Given the description of an element on the screen output the (x, y) to click on. 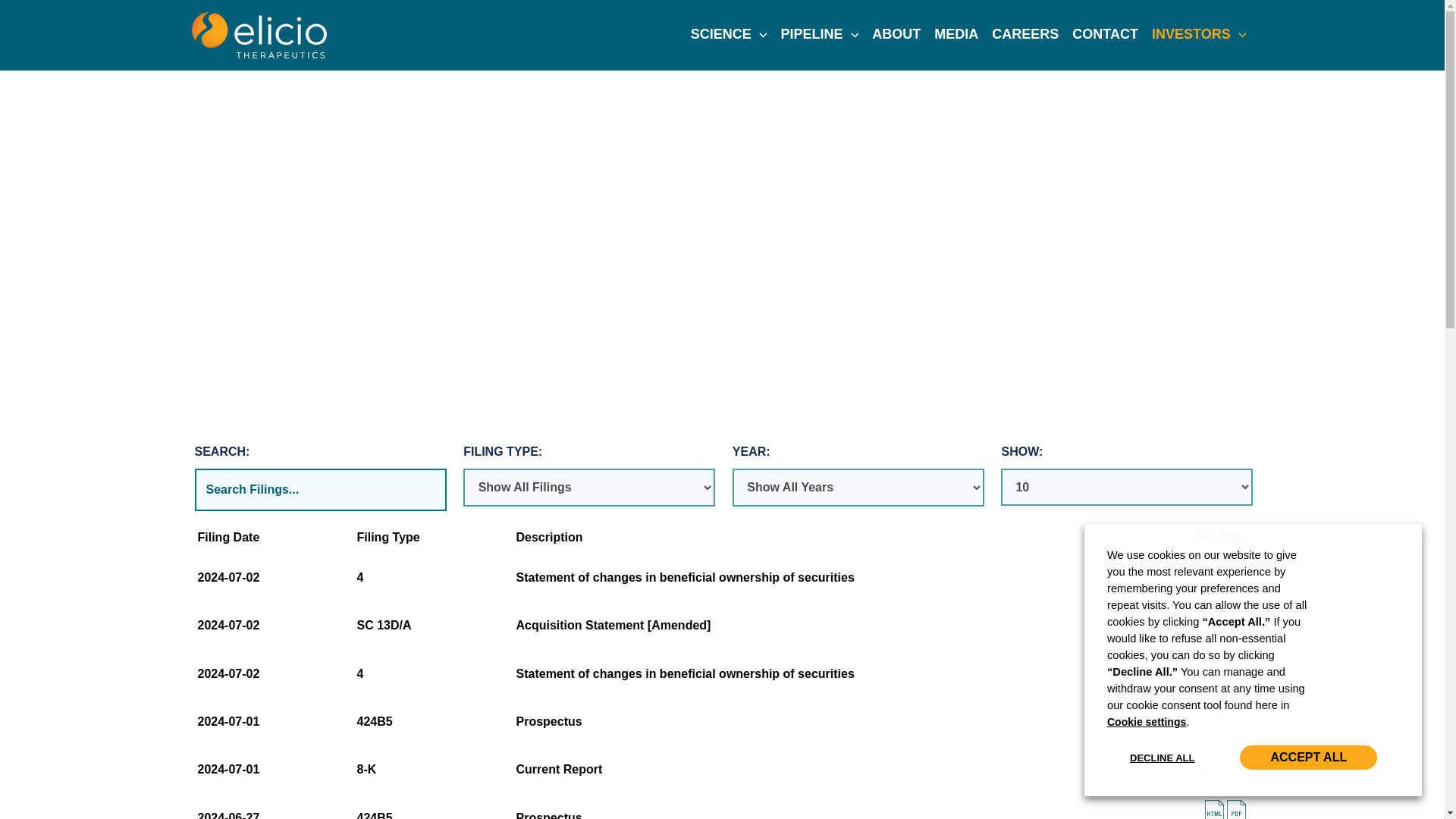
CAREERS (1025, 34)
INVESTORS (1198, 34)
PIPELINE (818, 34)
CONTACT (1104, 34)
MEDIA (956, 34)
SCIENCE (729, 34)
ABOUT (895, 34)
